Given the description of an element on the screen output the (x, y) to click on. 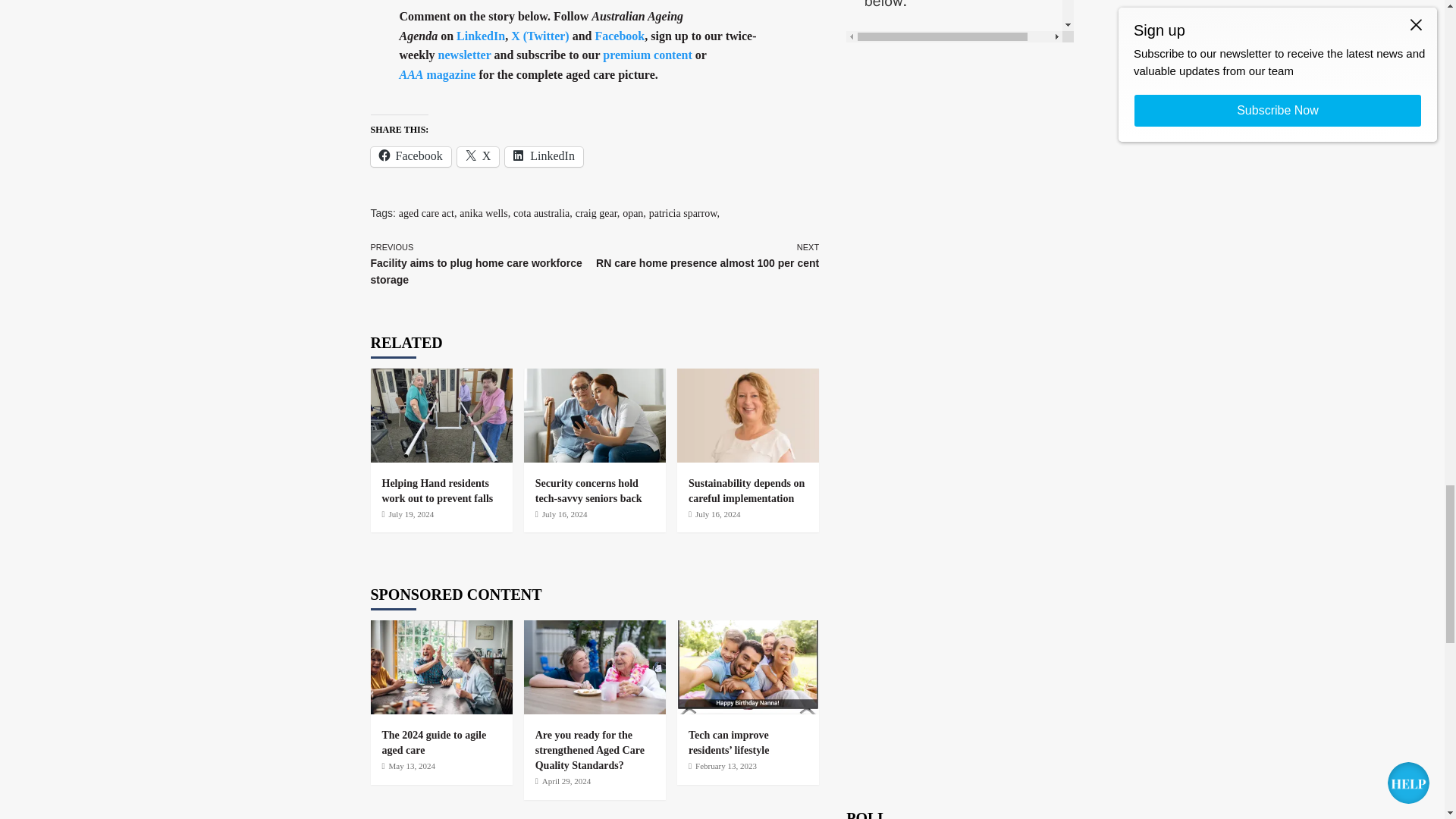
LinkedIn (481, 35)
aged care act, (427, 213)
Click to share on Facebook (409, 157)
AAA magazine (437, 74)
Click to share on X (478, 157)
newsletter (465, 54)
premium content (646, 54)
Click to share on LinkedIn (544, 157)
   Vote    (960, 56)
LinkedIn (544, 157)
X (478, 157)
Facebook (409, 157)
Facebook (619, 35)
